Given the description of an element on the screen output the (x, y) to click on. 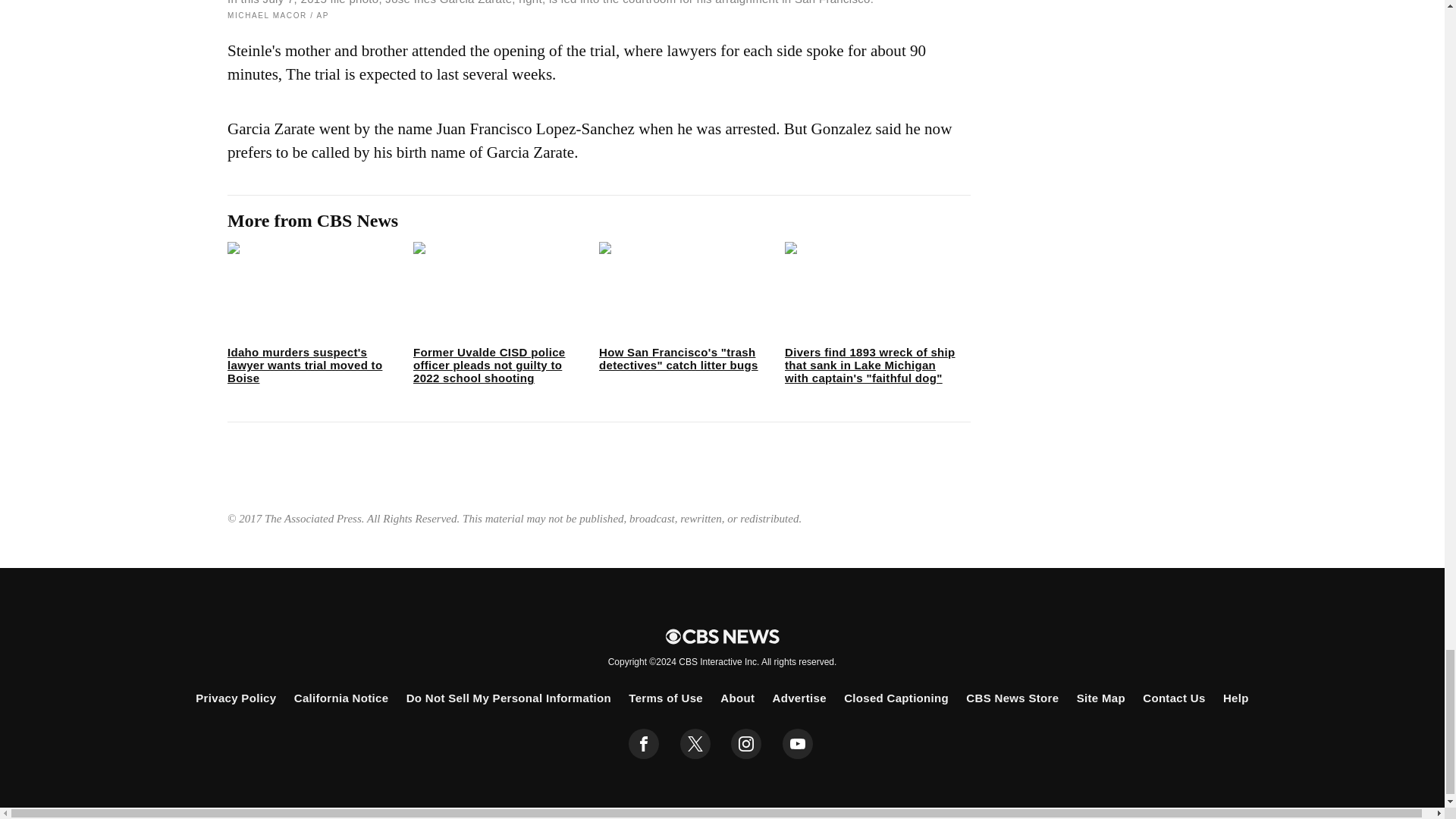
facebook (643, 743)
twitter (694, 743)
youtube (797, 743)
instagram (745, 743)
